Given the description of an element on the screen output the (x, y) to click on. 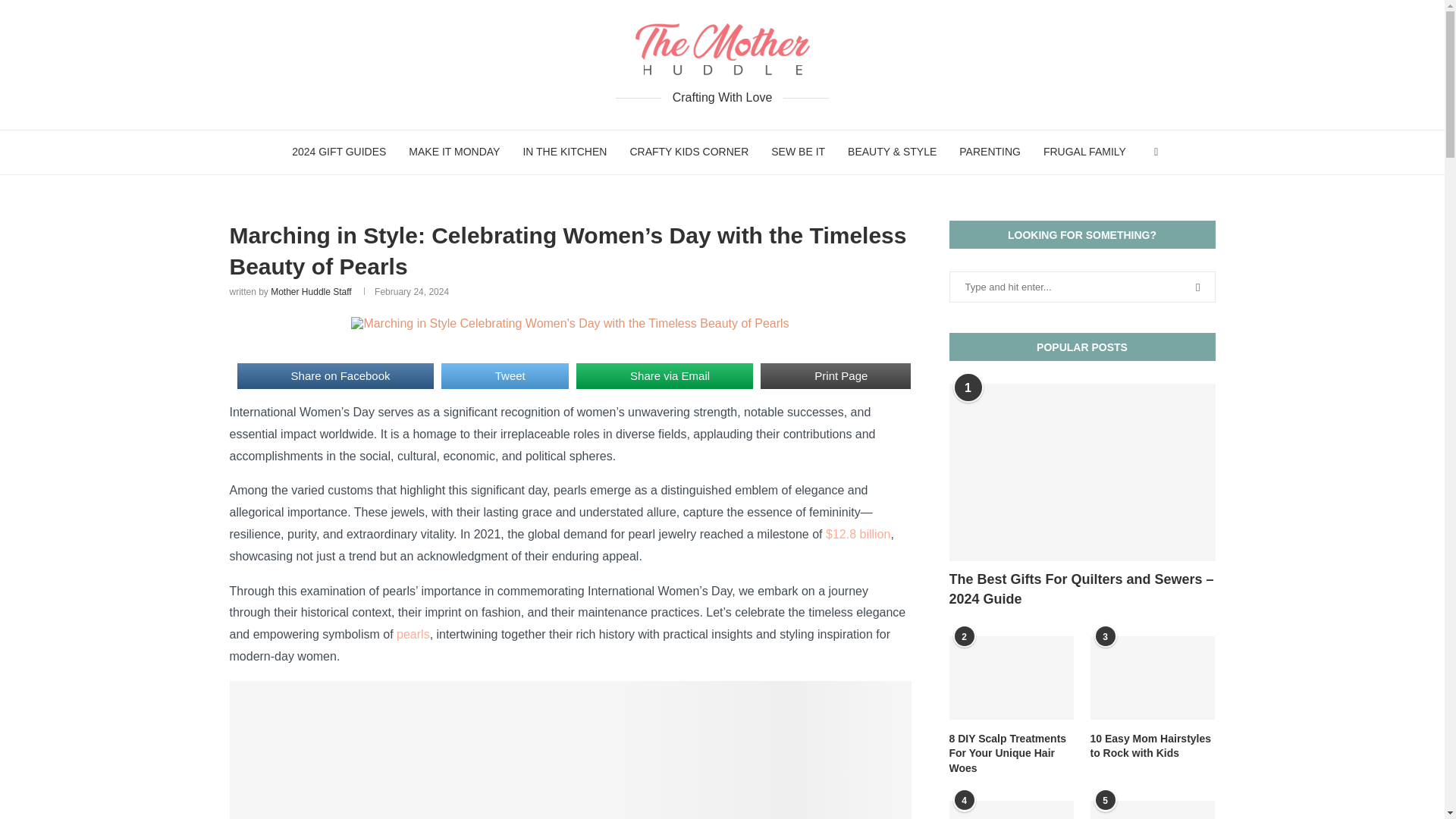
Share on Facebook (333, 375)
PARENTING (989, 152)
Tweet (505, 375)
FRUGAL FAMILY (1084, 152)
Mother Huddle Staff (311, 291)
Share via Email (664, 375)
2024 GIFT GUIDES (339, 152)
MAKE IT MONDAY (454, 152)
CRAFTY KIDS CORNER (688, 152)
Print Page (835, 375)
IN THE KITCHEN (564, 152)
pearls (412, 634)
SEW BE IT (797, 152)
